Given the description of an element on the screen output the (x, y) to click on. 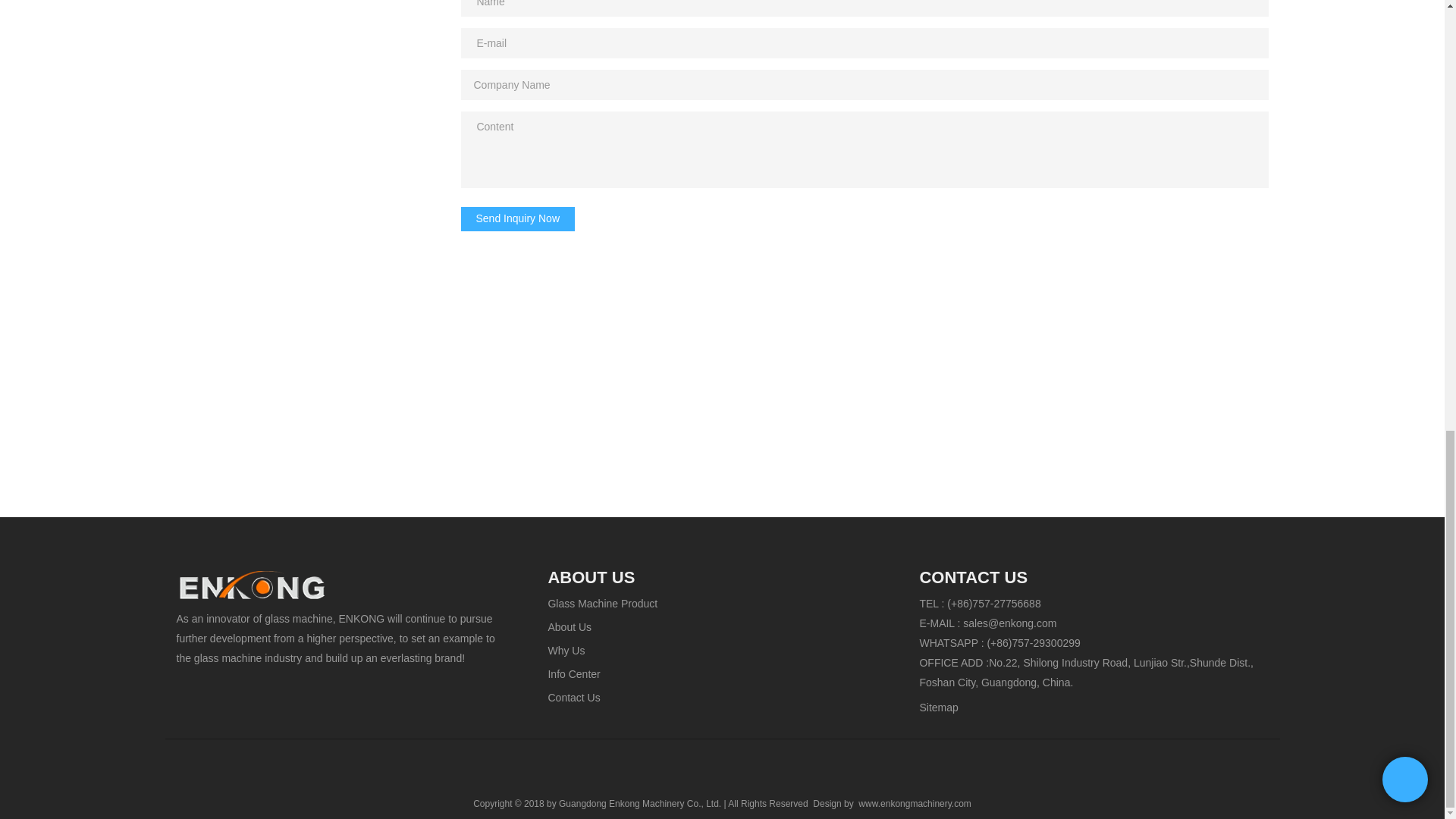
Send Inquiry Now (518, 218)
